Given the description of an element on the screen output the (x, y) to click on. 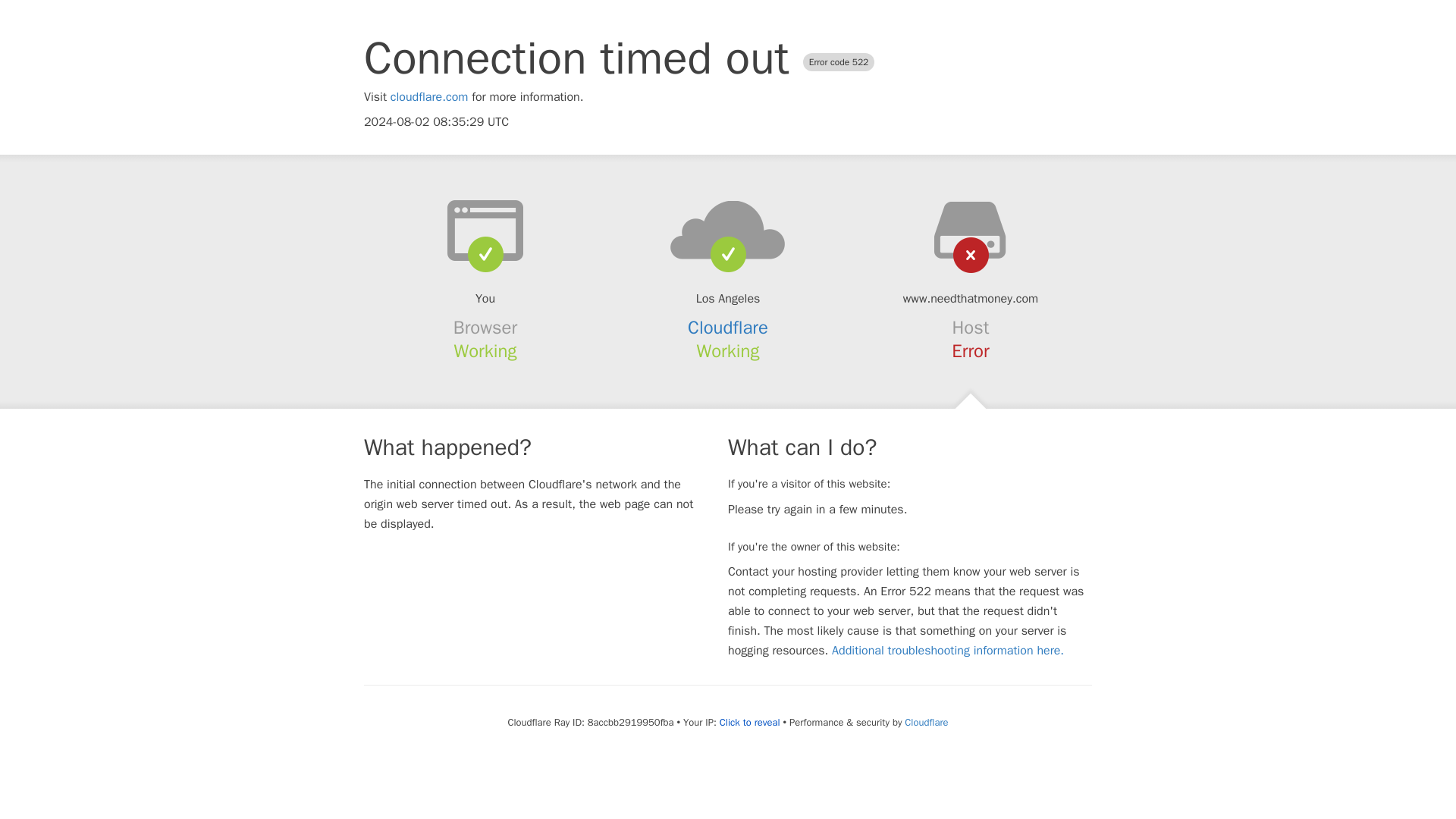
Cloudflare (727, 327)
Cloudflare (925, 721)
cloudflare.com (429, 96)
Click to reveal (749, 722)
Additional troubleshooting information here. (947, 650)
